Given the description of an element on the screen output the (x, y) to click on. 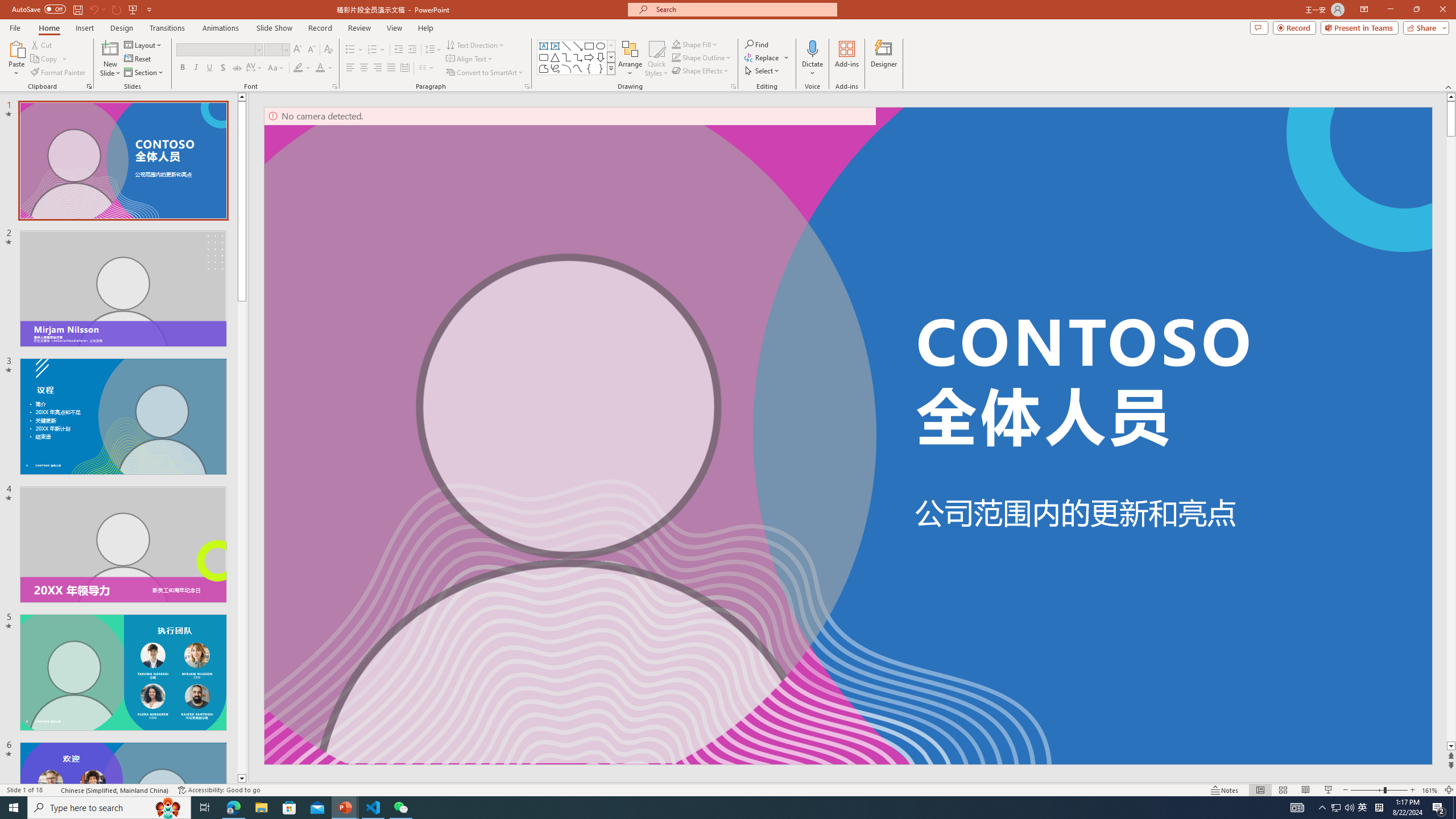
Shape Effects (700, 69)
